Given the description of an element on the screen output the (x, y) to click on. 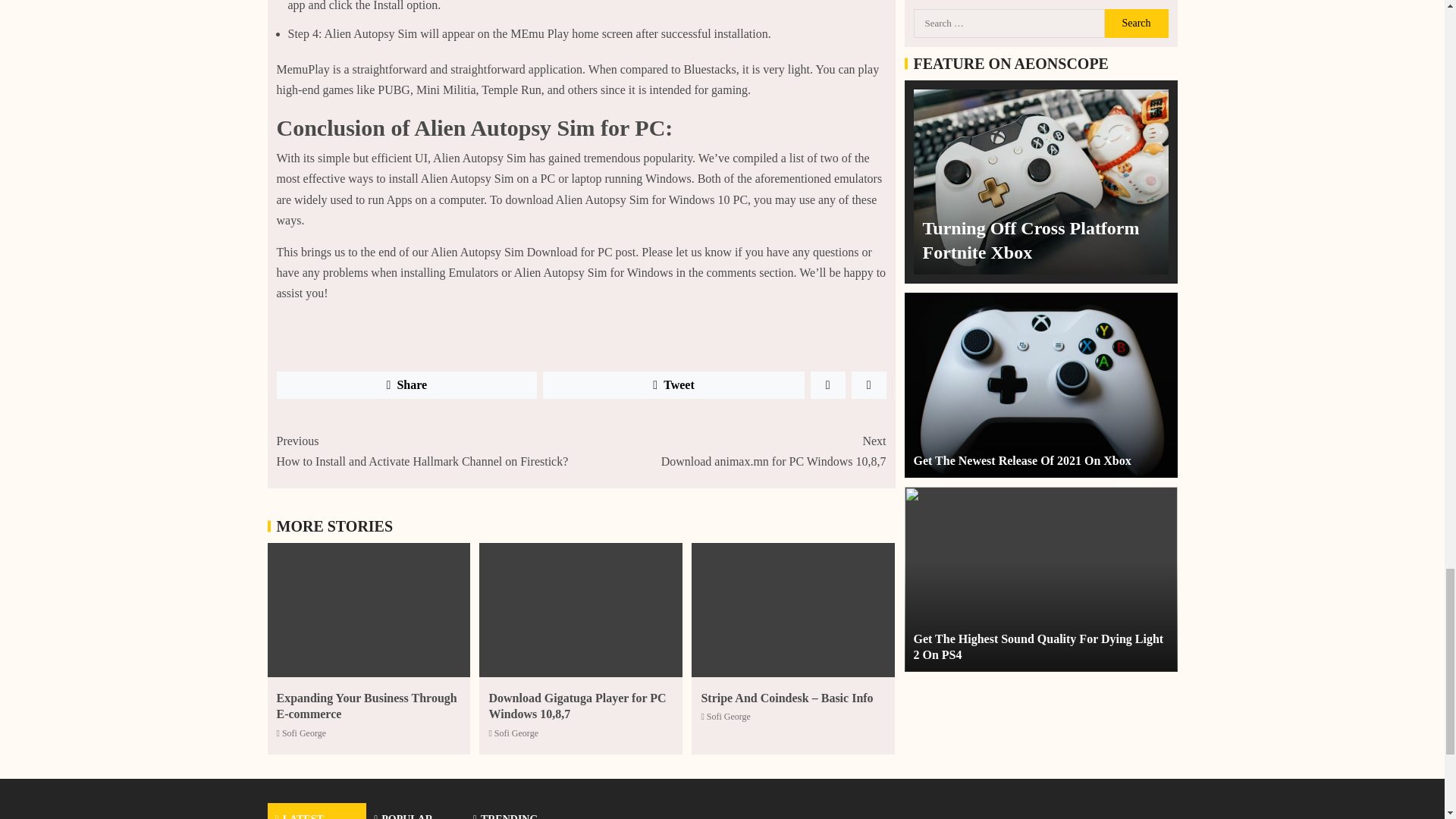
Sofi George (728, 716)
Share (406, 384)
Sofi George (516, 733)
Sofi George (732, 450)
Tweet (304, 733)
Expanding Your Business Through E-commerce (674, 384)
Download Gigatuga Player for PC Windows 10,8,7 (366, 705)
